Given the description of an element on the screen output the (x, y) to click on. 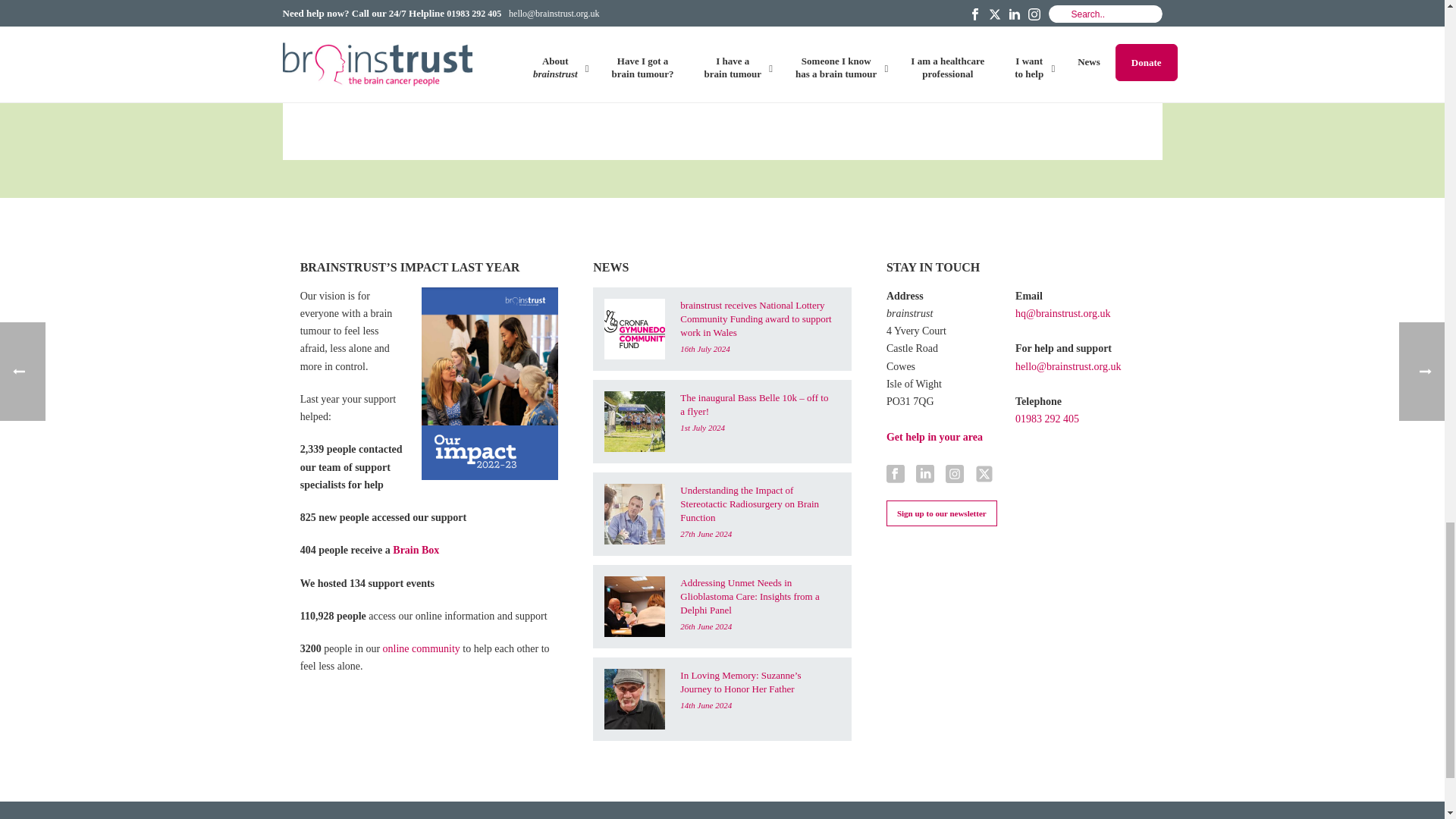
Follow Us on twitter (983, 475)
Follow Us on facebook (895, 475)
email brainstrust  (473, 74)
Follow Us on linkedin (924, 475)
Follow Us on instagram (953, 475)
